Given the description of an element on the screen output the (x, y) to click on. 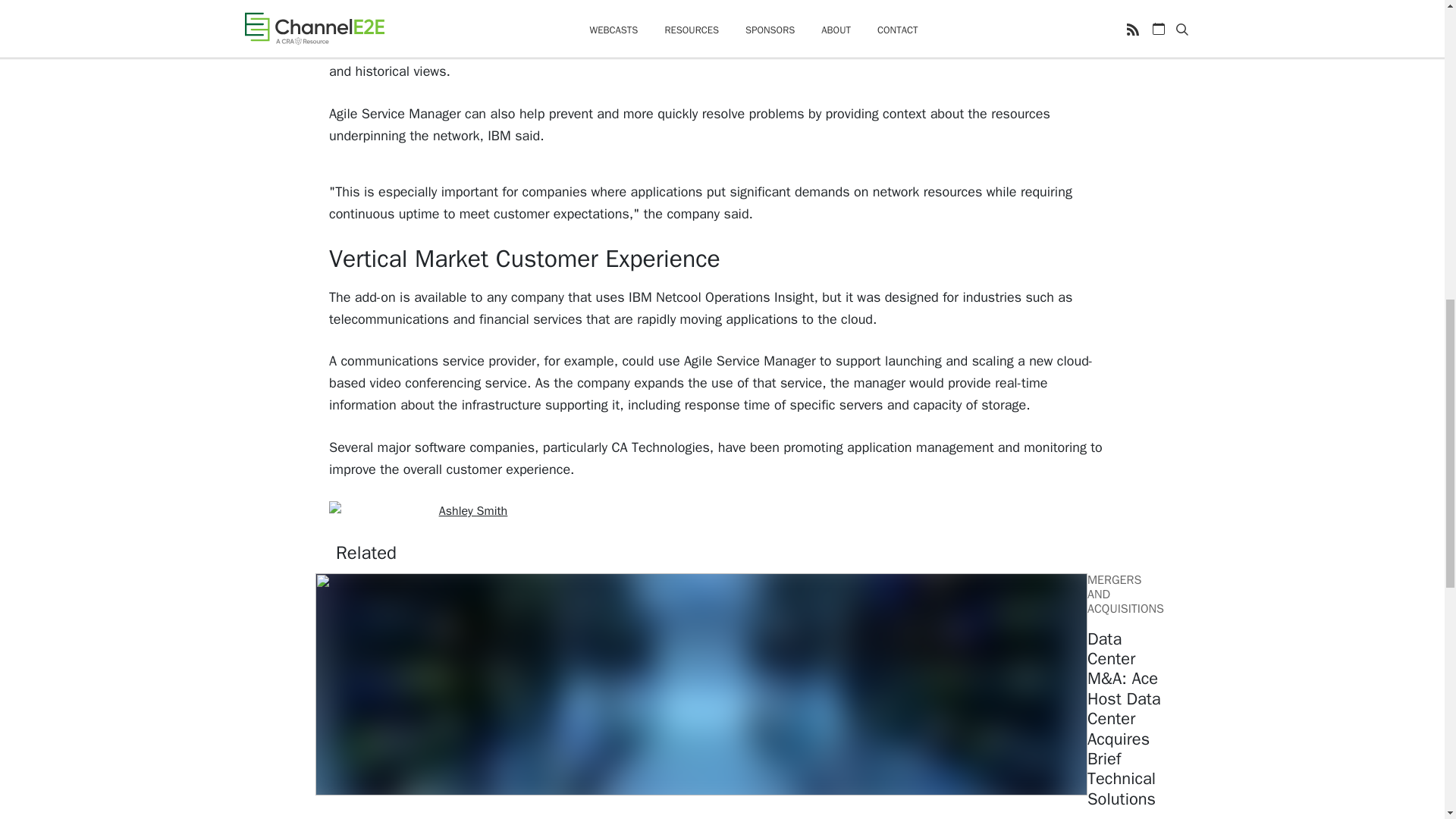
MERGERS AND ACQUISITIONS (1125, 594)
IBM Netcool Operations Insight (720, 297)
CA Technologies (660, 446)
Ashley Smith (472, 510)
